Given the description of an element on the screen output the (x, y) to click on. 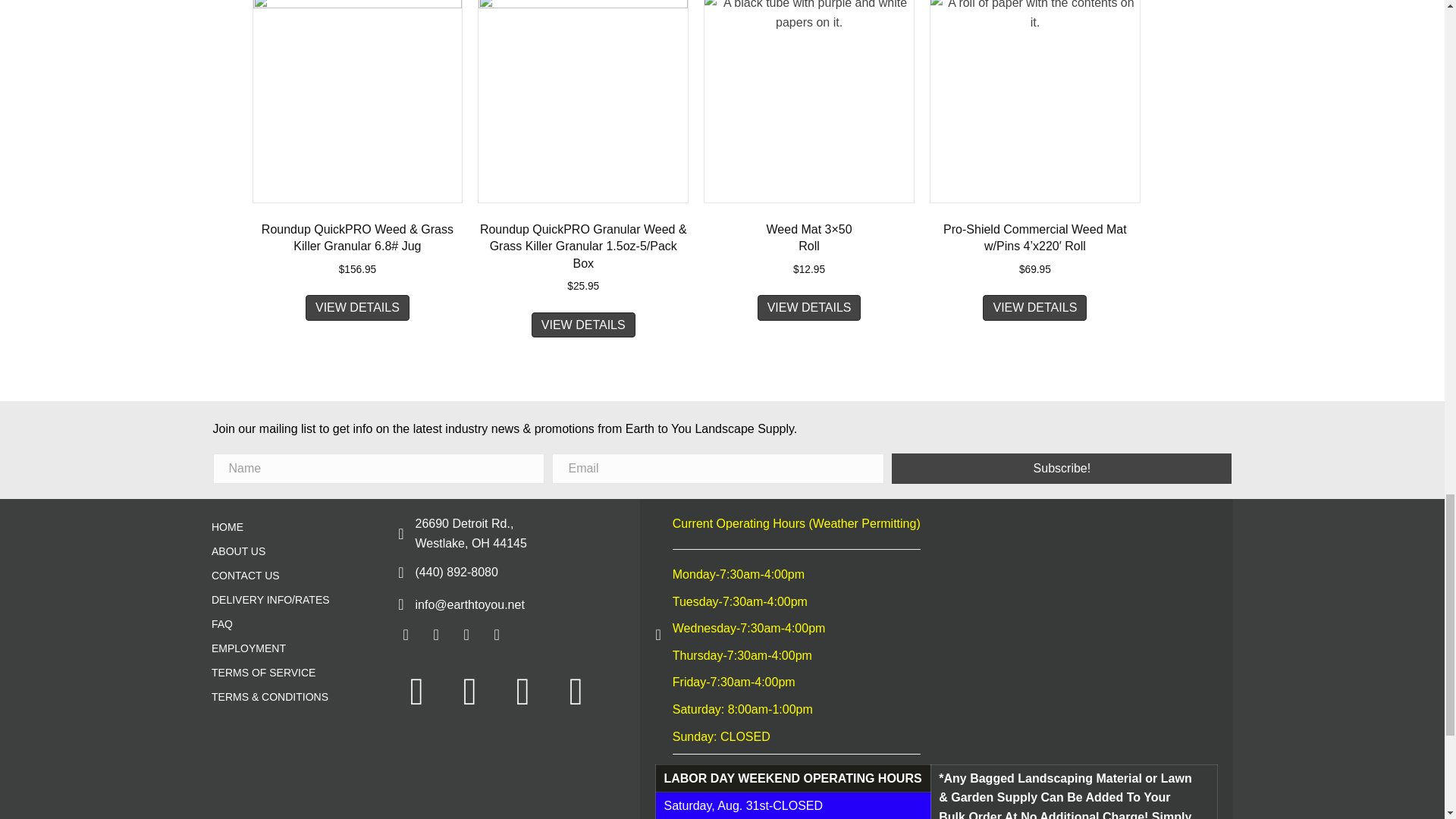
Instagram (466, 634)
Twitter (435, 634)
Pinterest (496, 634)
Facebook (405, 634)
